Given the description of an element on the screen output the (x, y) to click on. 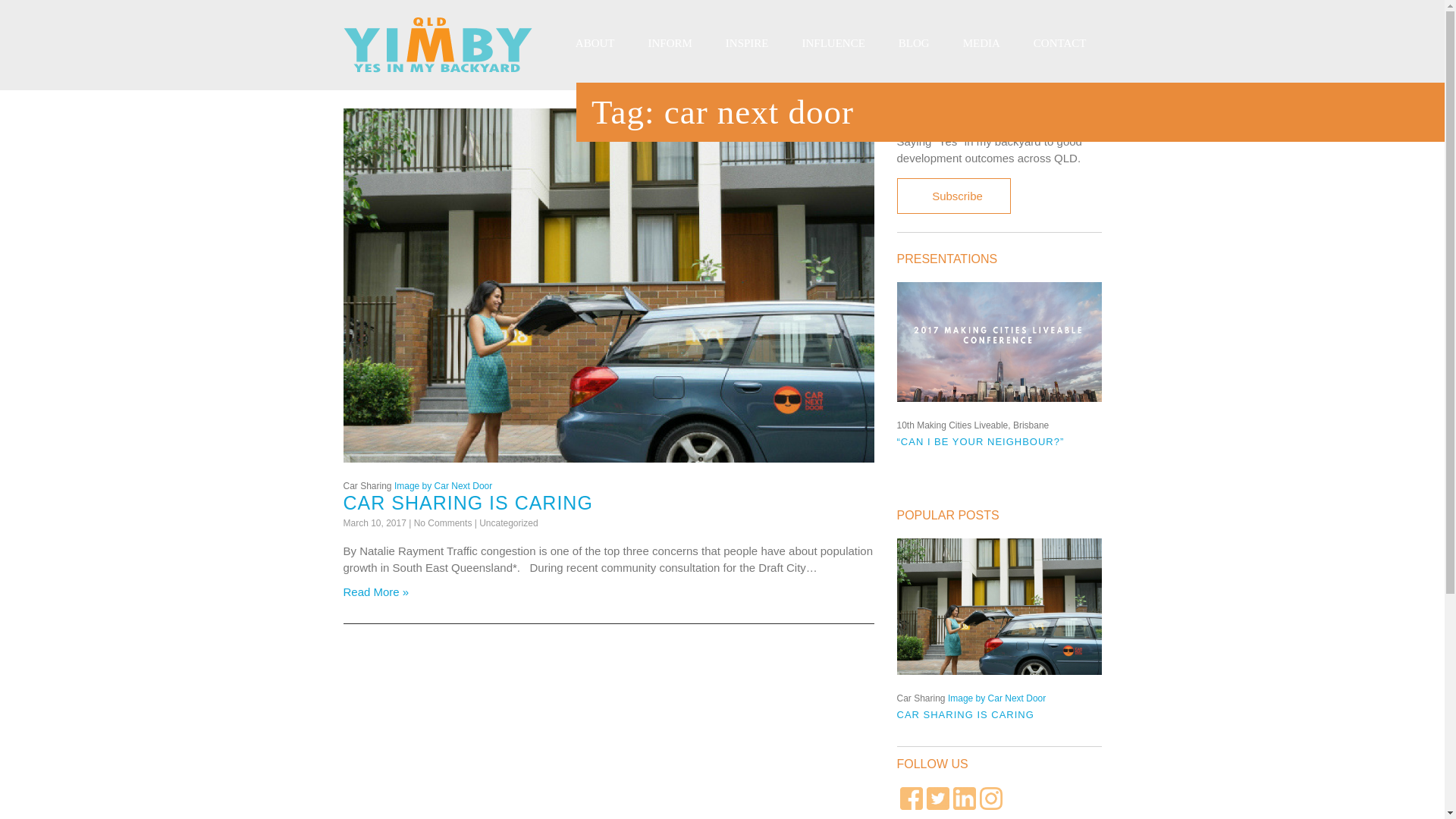
No Comments (442, 522)
MEDIA (980, 42)
Subscribe (953, 195)
ABOUT (595, 42)
INFORM (668, 42)
BLOG (913, 42)
Uncategorized (508, 522)
CONTACT (1059, 42)
Subscribe (953, 196)
CAR SHARING IS CARING (467, 502)
INSPIRE (747, 42)
INFLUENCE (833, 42)
Image by Car Next Door (443, 485)
View all posts in Uncategorized (508, 522)
